Given the description of an element on the screen output the (x, y) to click on. 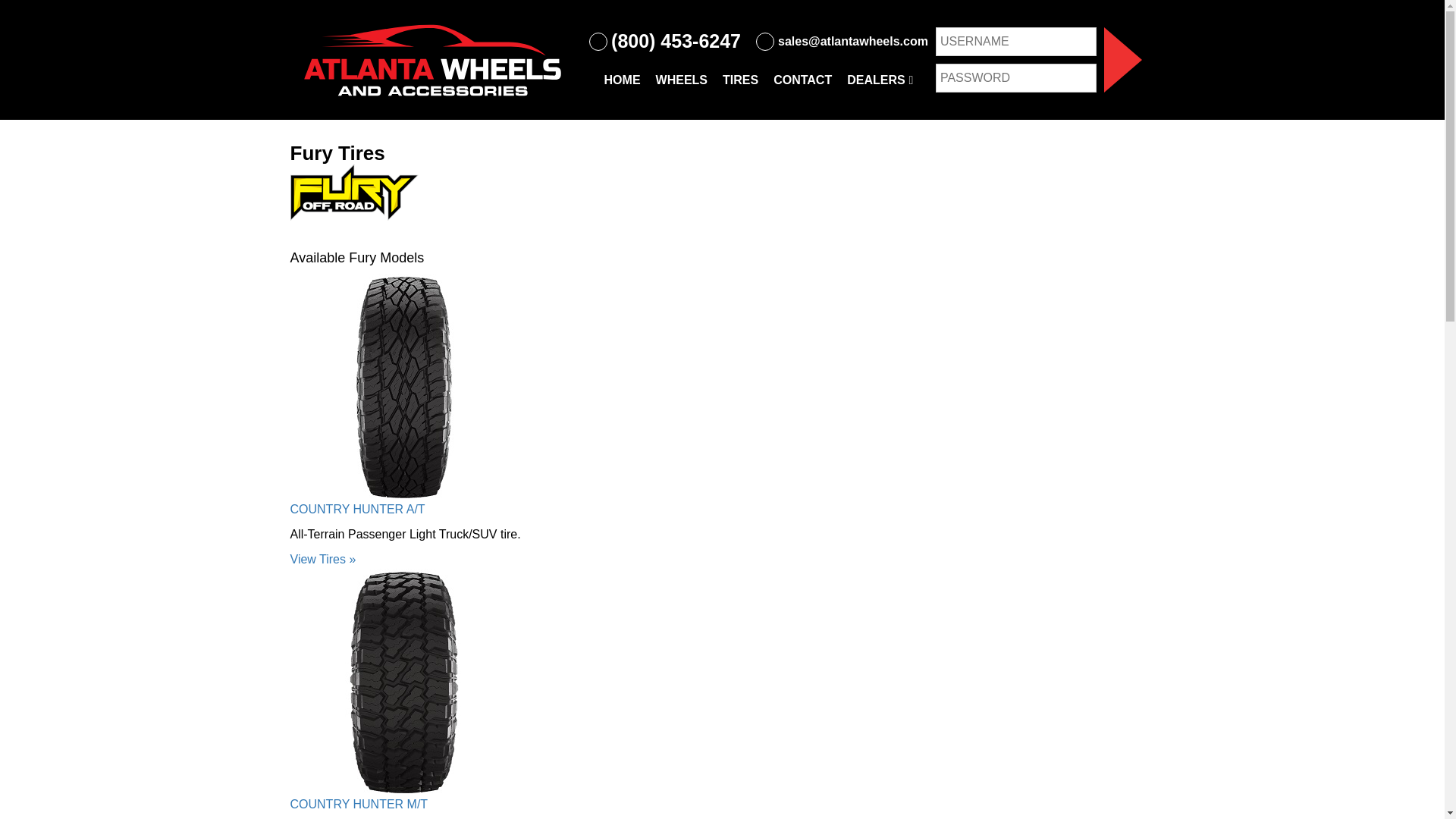
DEALERS (880, 79)
WHEELS (680, 79)
CONTACT (802, 79)
TIRES (739, 79)
HOME (621, 79)
